Given the description of an element on the screen output the (x, y) to click on. 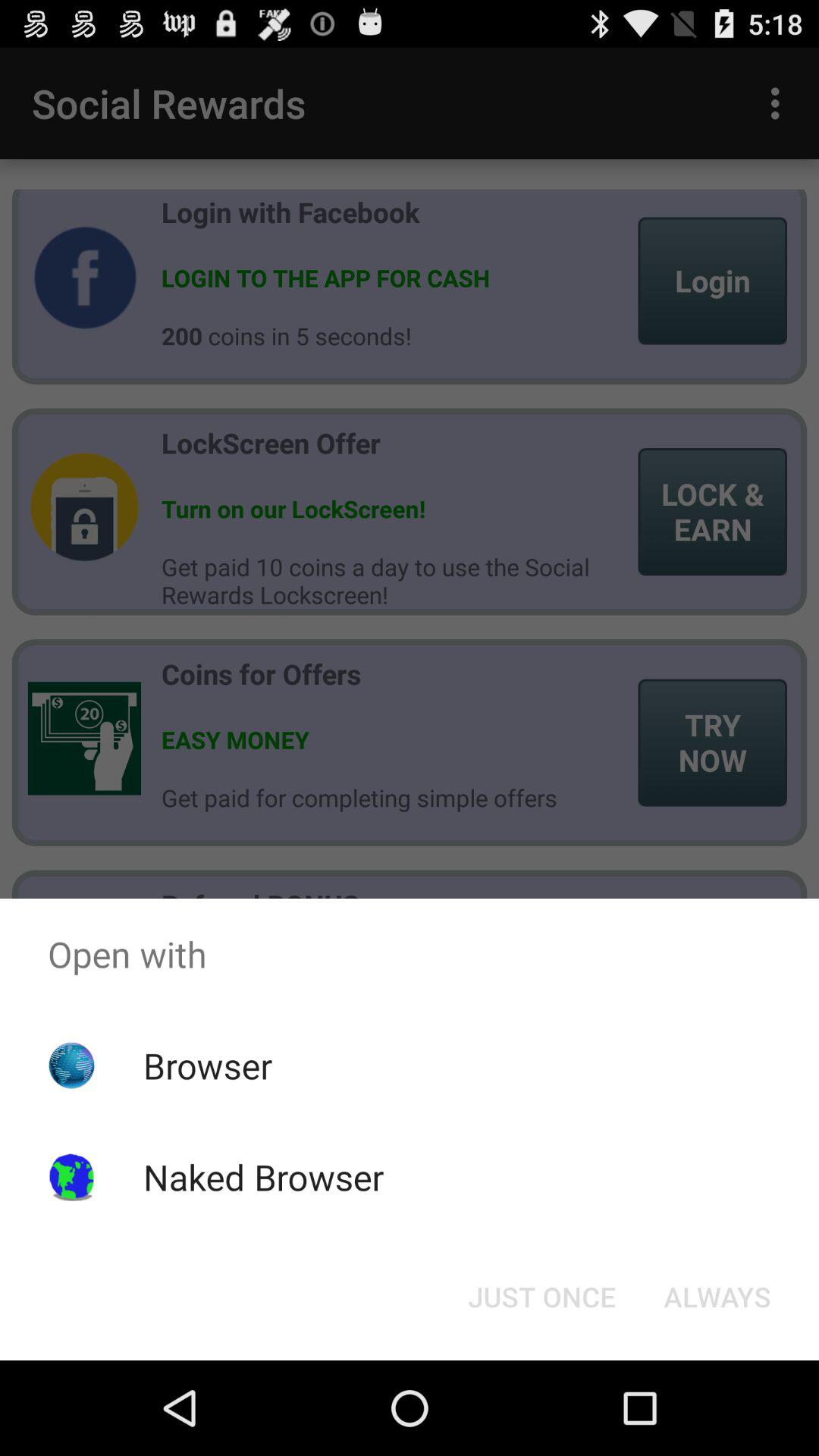
select the just once (541, 1296)
